Given the description of an element on the screen output the (x, y) to click on. 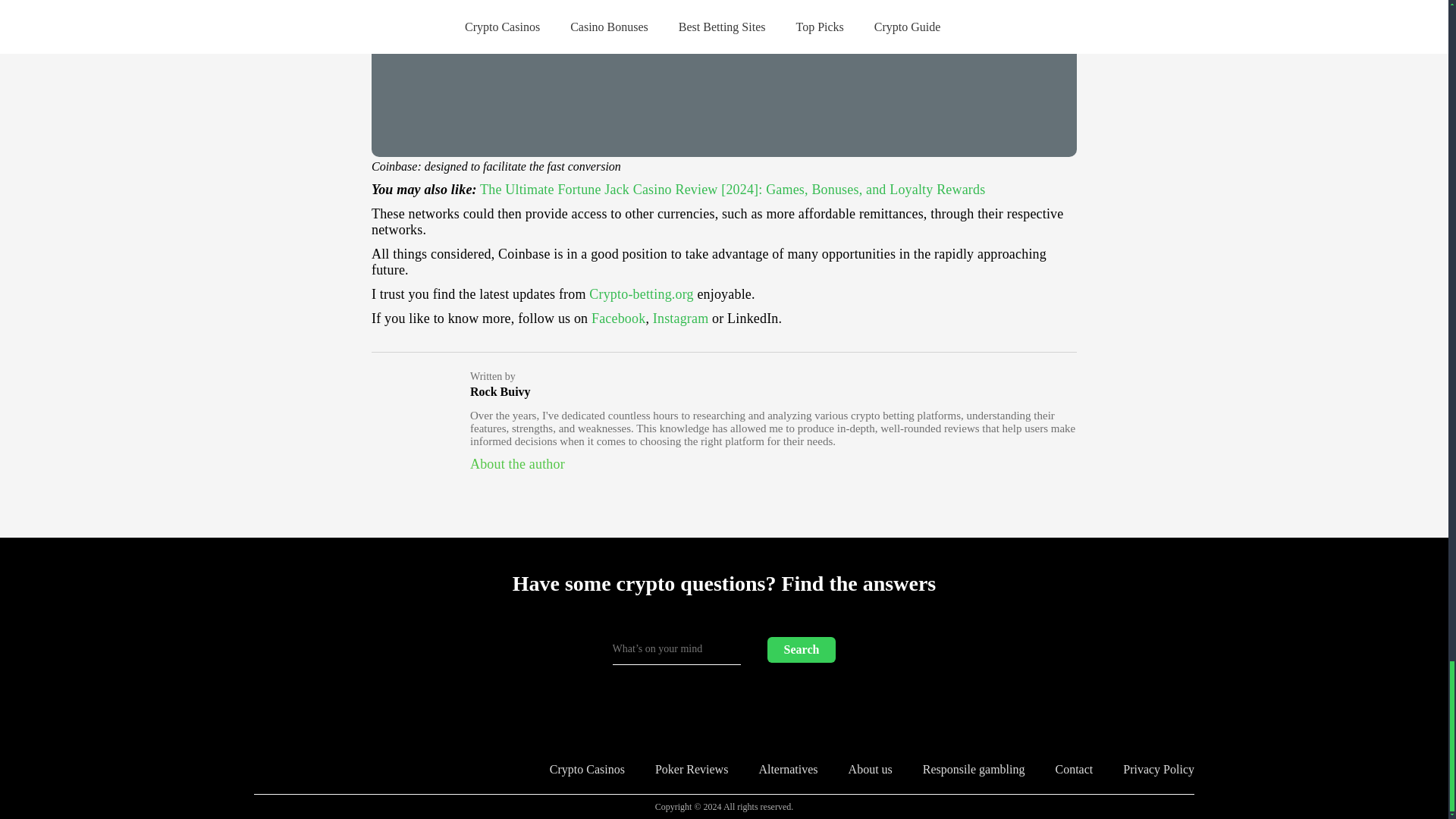
Search (801, 648)
Search (801, 648)
Coinbase (724, 78)
